Given the description of an element on the screen output the (x, y) to click on. 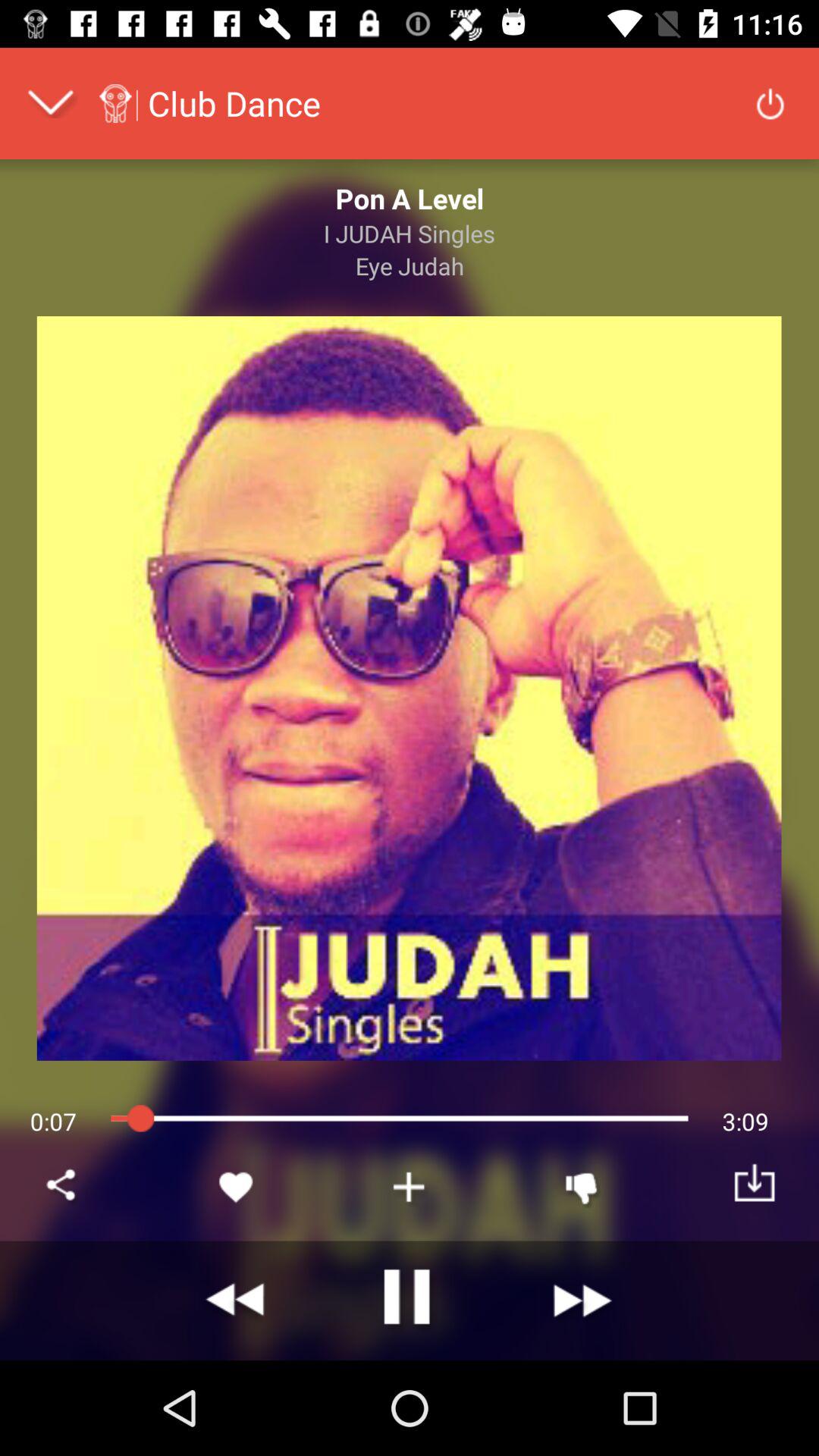
go back (236, 1300)
